Given the description of an element on the screen output the (x, y) to click on. 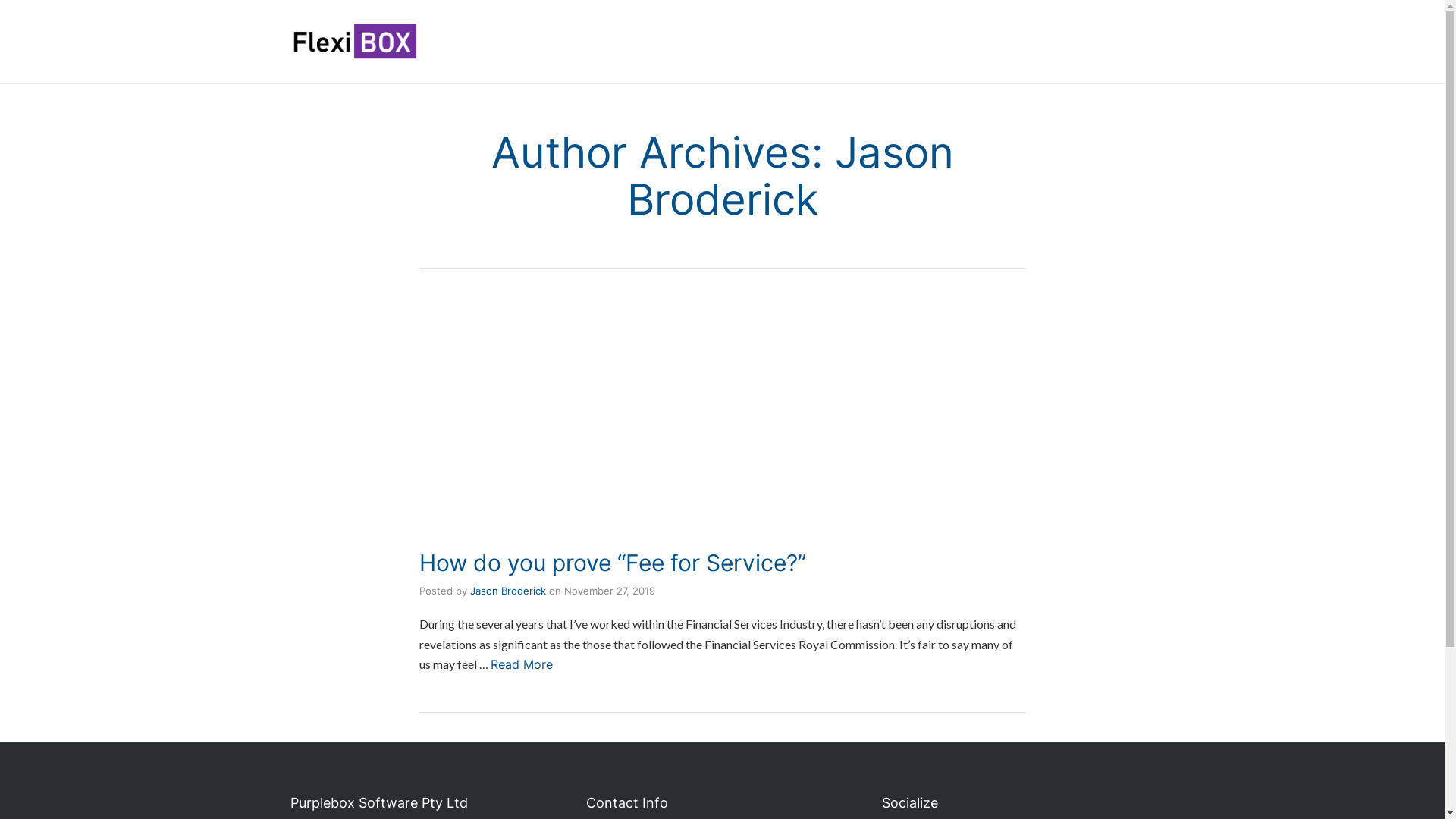
Read More Element type: text (520, 663)
Jason Broderick Element type: text (508, 590)
